Given the description of an element on the screen output the (x, y) to click on. 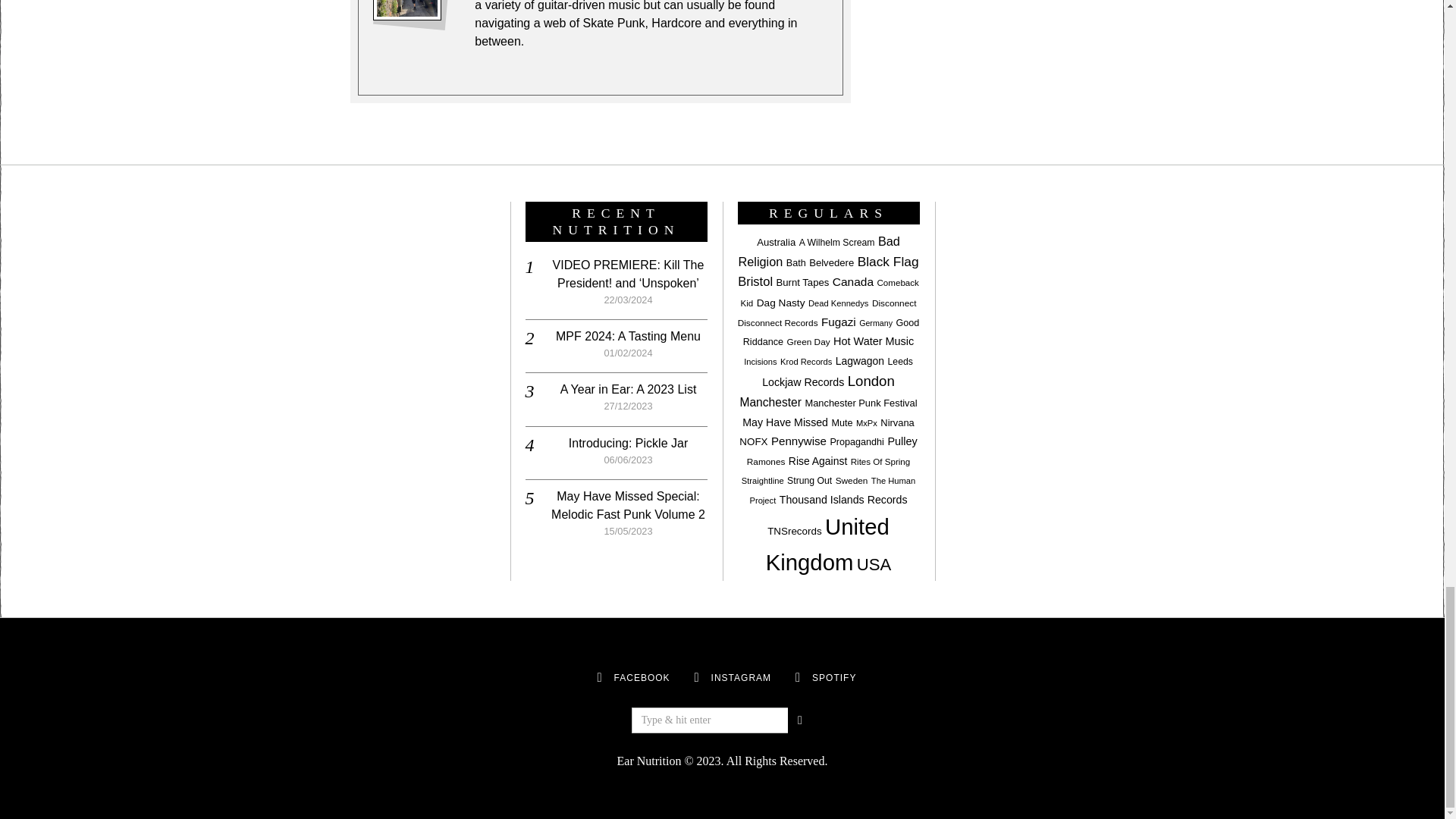
Facebook (641, 677)
Instagram (696, 677)
Go (799, 720)
Spotify (797, 677)
Instagram (741, 677)
Spotify (834, 677)
Facebook (599, 677)
